Given the description of an element on the screen output the (x, y) to click on. 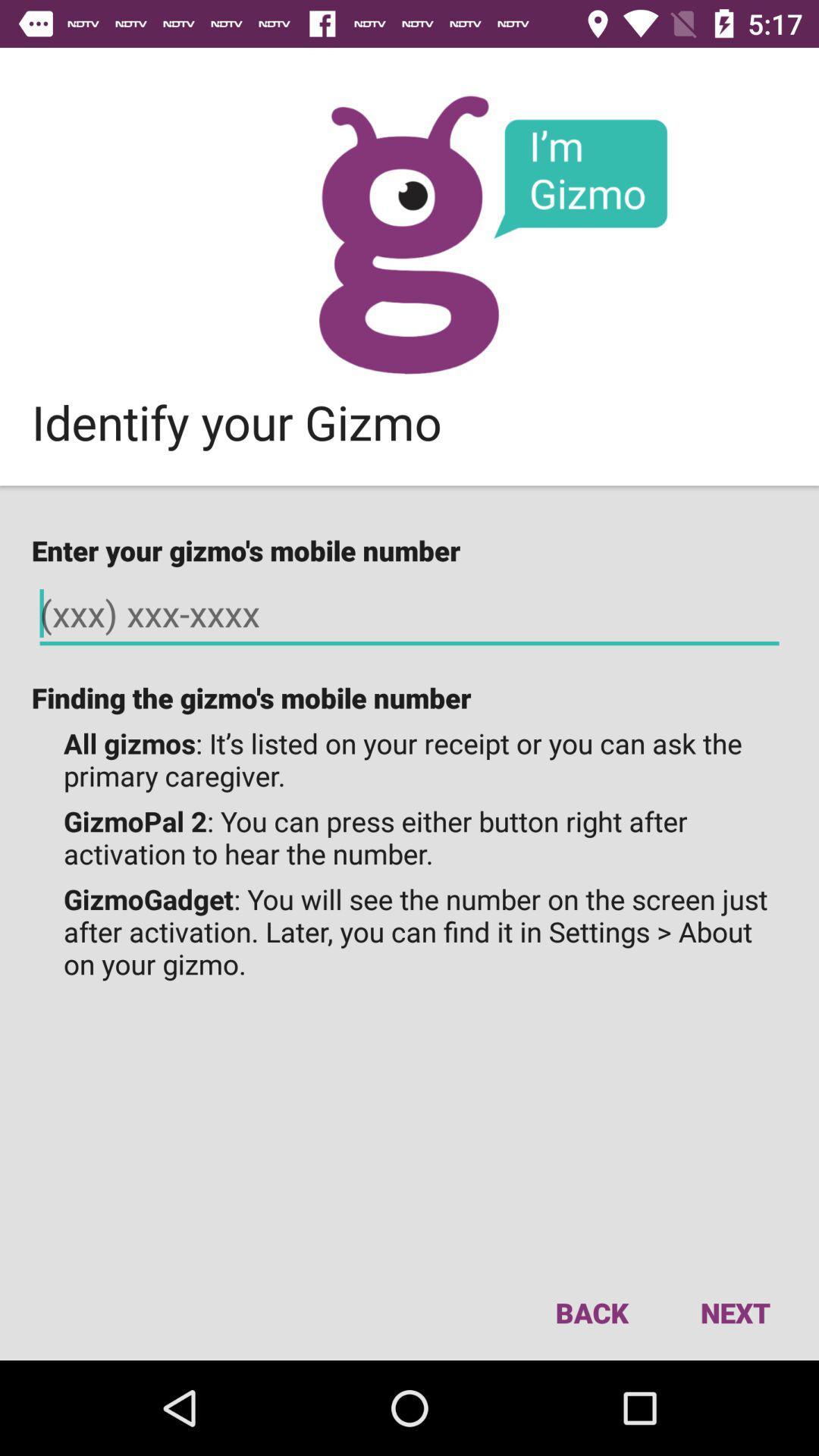
share the article (408, 234)
